Given the description of an element on the screen output the (x, y) to click on. 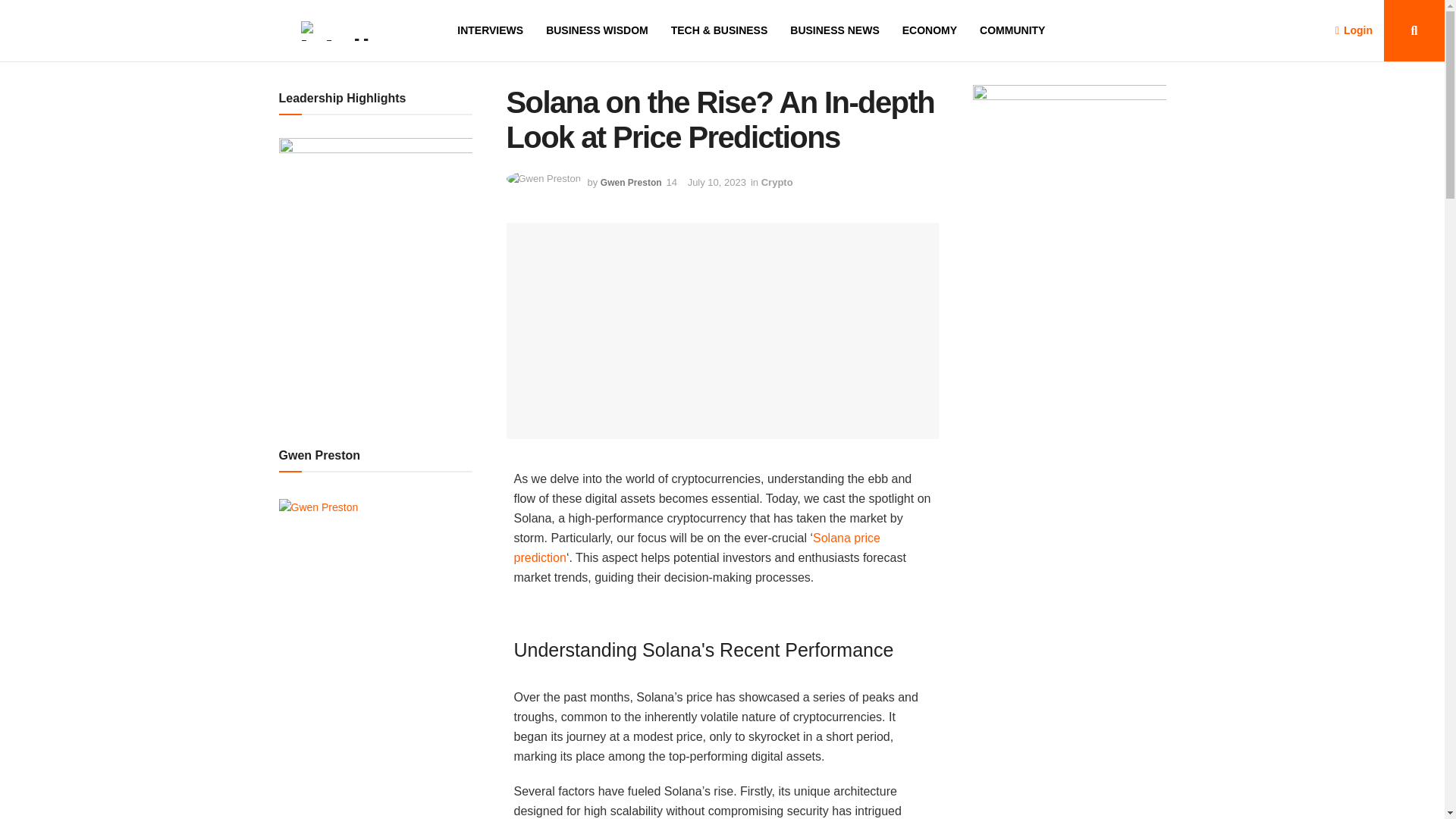
BUSINESS WISDOM (596, 30)
ECONOMY (929, 30)
INTERVIEWS (489, 30)
Gwen Preston (630, 182)
Solana price prediction (696, 547)
COMMUNITY (1012, 30)
July 10, 2023 (716, 182)
Crypto (777, 182)
BUSINESS NEWS (834, 30)
